Given the description of an element on the screen output the (x, y) to click on. 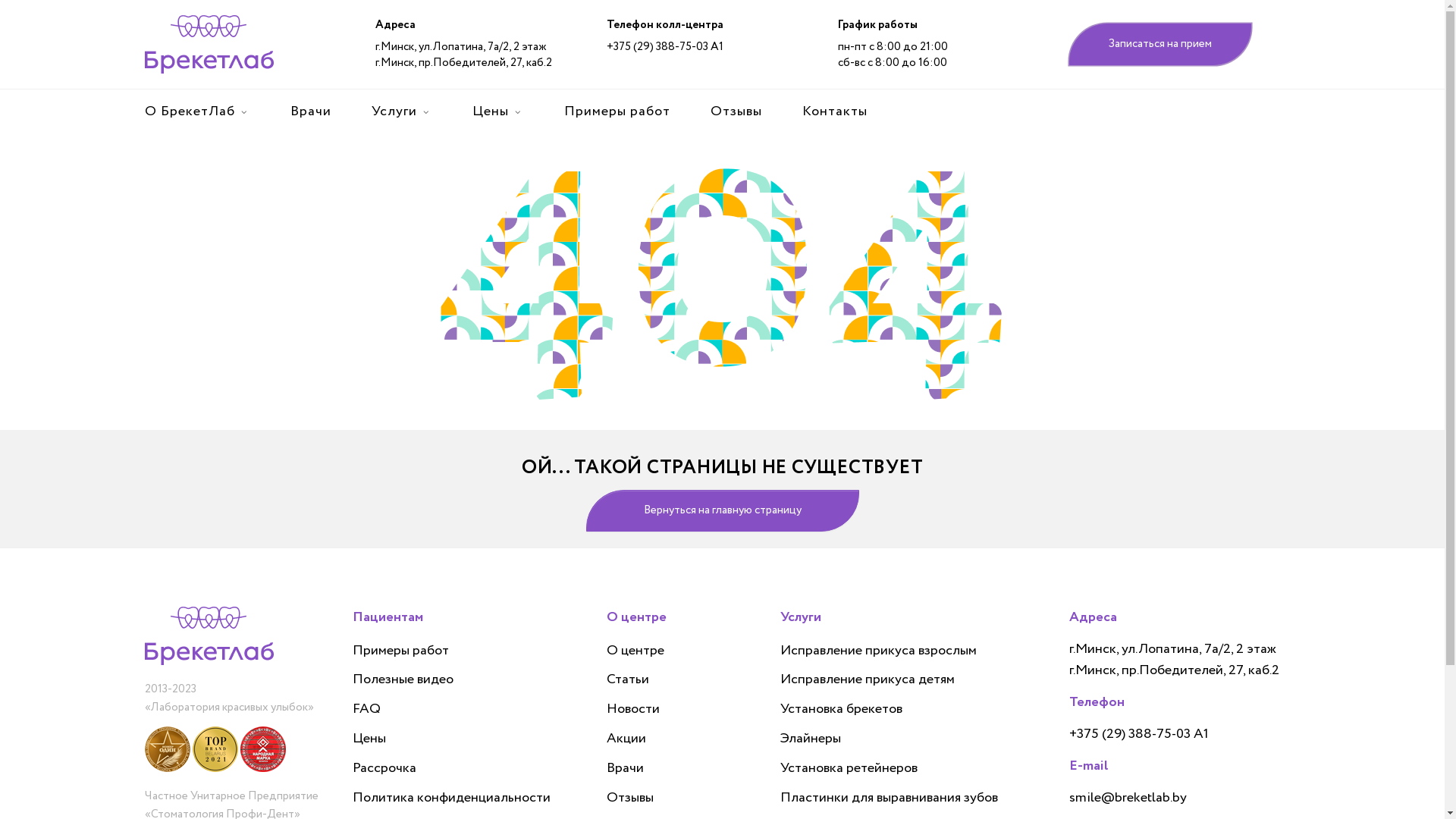
smile@breketlab.by Element type: text (1127, 798)
FAQ Element type: text (366, 709)
